Given the description of an element on the screen output the (x, y) to click on. 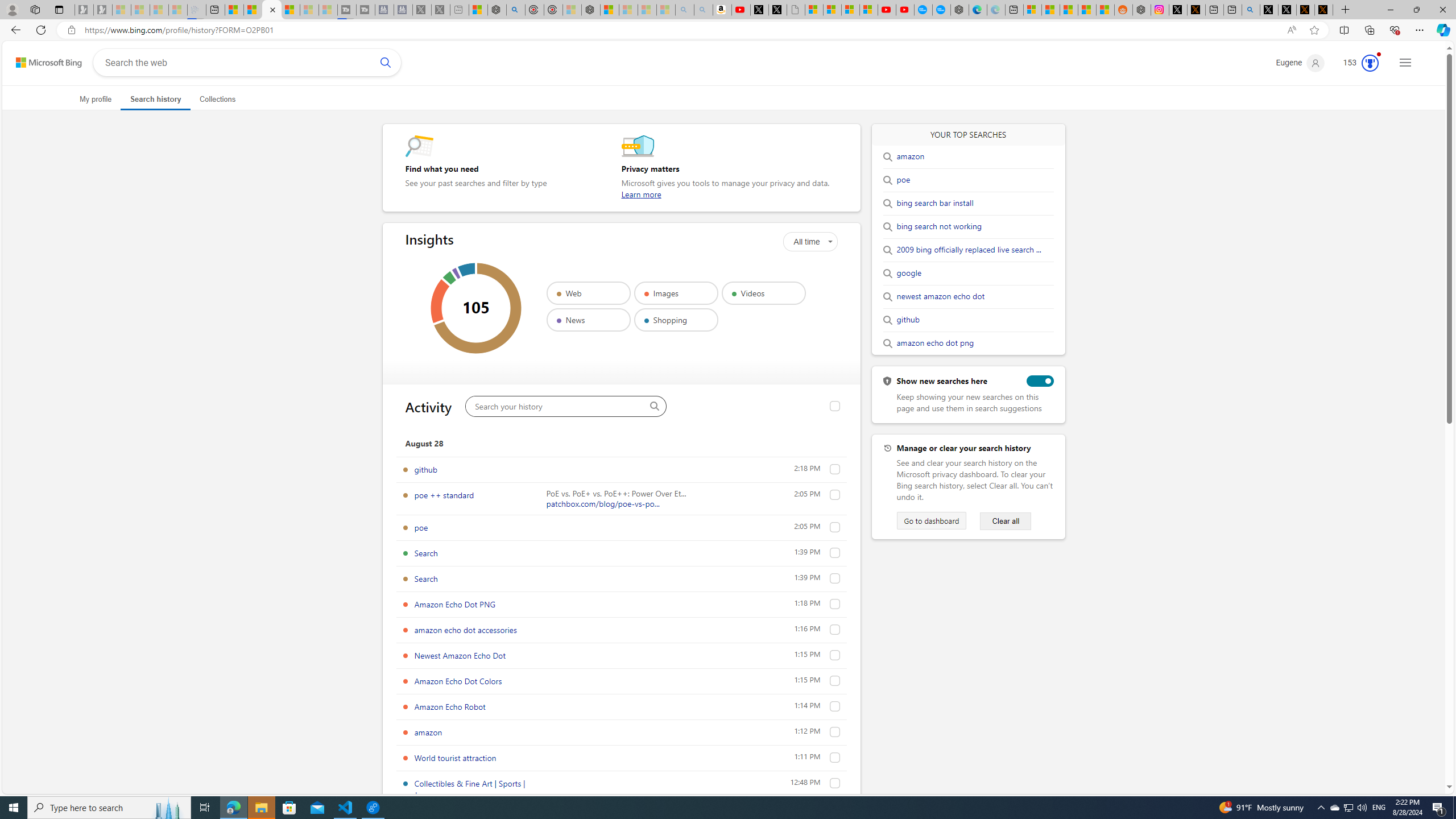
Nordace - Nordace Siena Is Not An Ordinary Backpack (590, 9)
Shanghai, China hourly forecast | Microsoft Weather (1069, 9)
Search - Search History (271, 9)
Profile / X (1268, 9)
Eugene (1299, 62)
Videos (763, 292)
patchbox.com/blog/poe-vs-po... (602, 503)
Search button (385, 61)
Amazon Echo Dot Colors (834, 680)
